Given the description of an element on the screen output the (x, y) to click on. 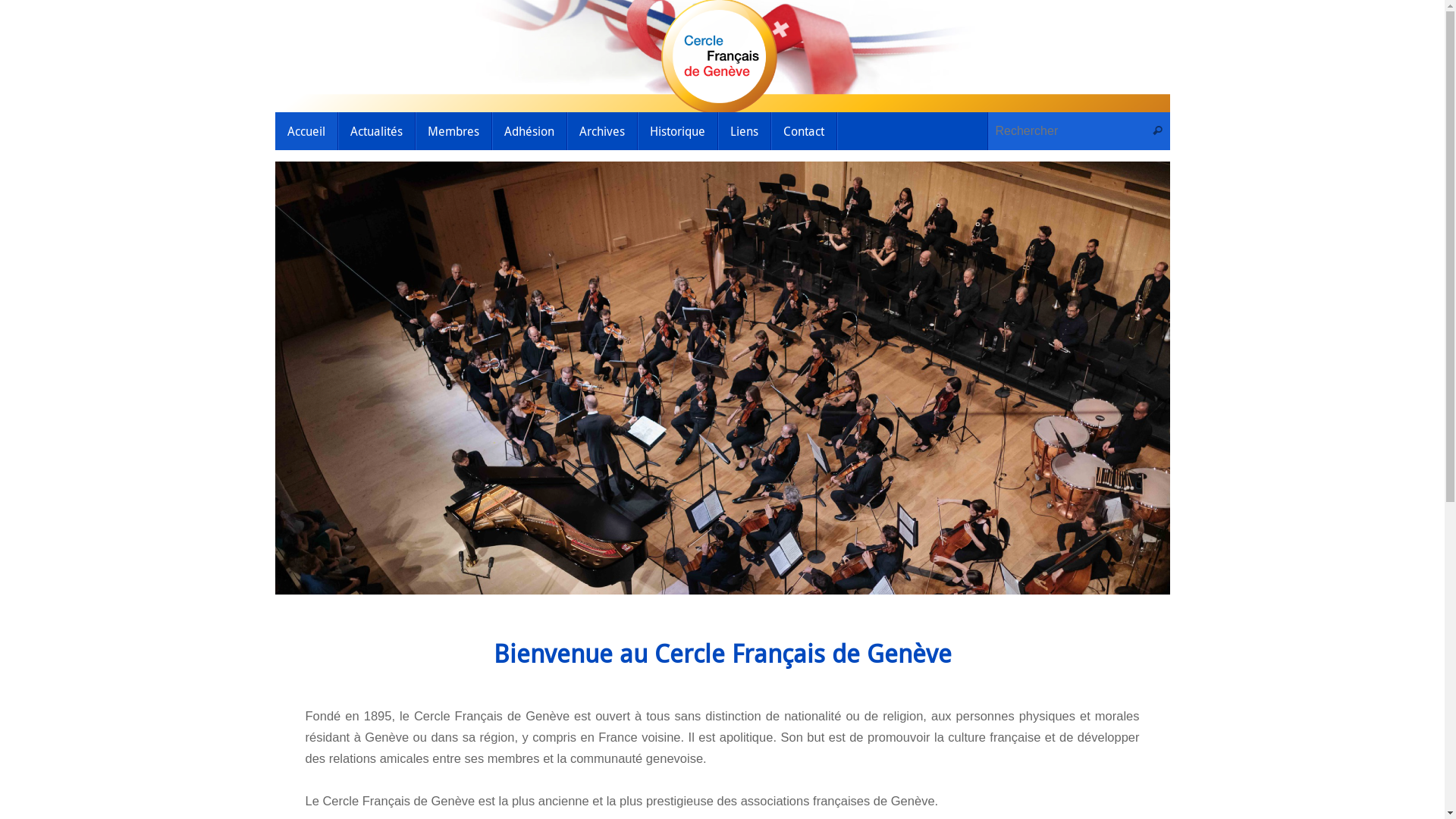
Accueil Element type: text (305, 131)
Rechercher Element type: text (1157, 131)
Historique Element type: text (677, 131)
Liens Element type: text (743, 131)
Membres Element type: text (453, 131)
Contact Element type: text (803, 131)
Passer au contenu Element type: text (274, 135)
Archives Element type: text (602, 131)
